Given the description of an element on the screen output the (x, y) to click on. 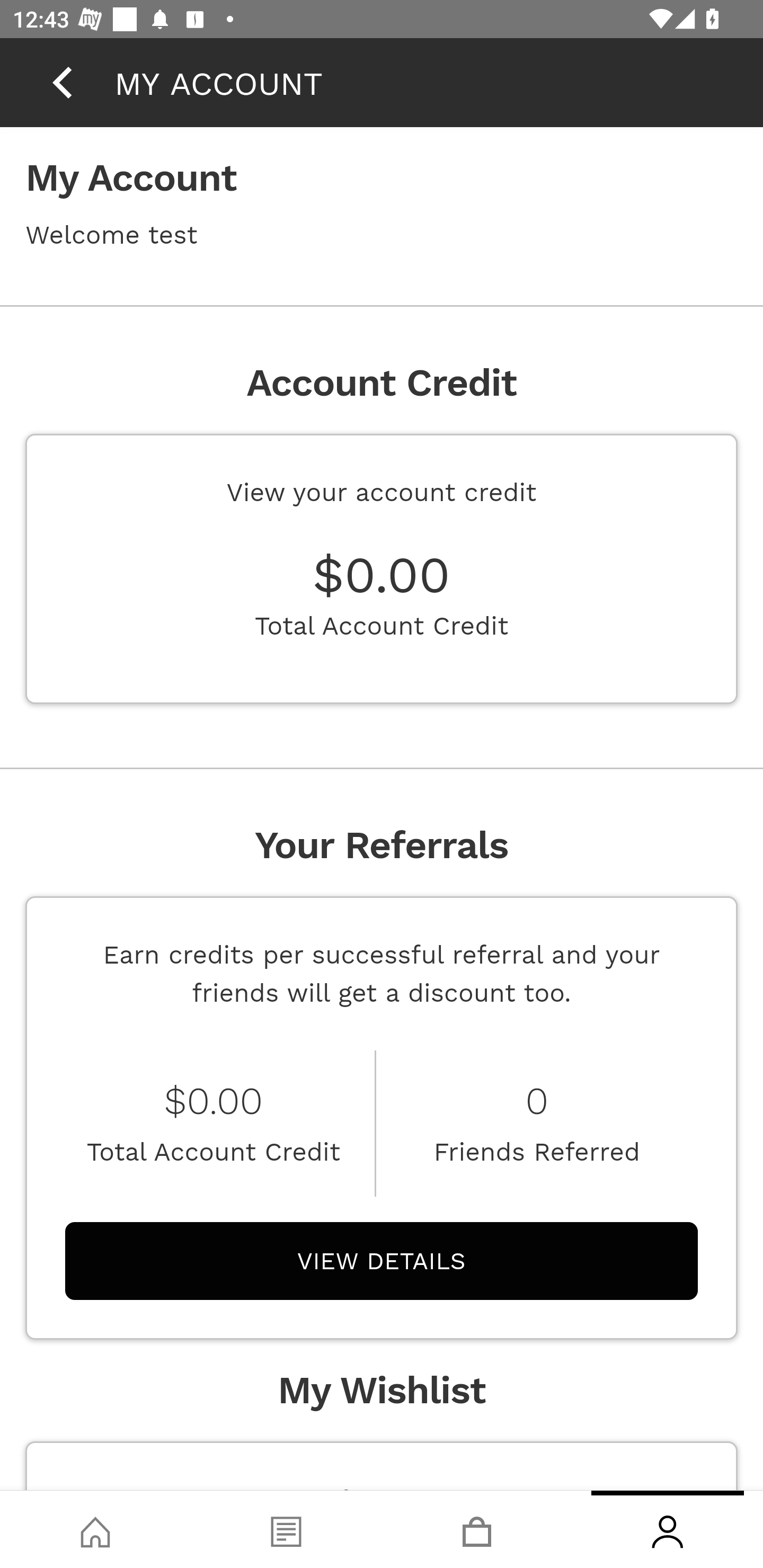
back (61, 82)
VIEW DETAILS (381, 1260)
Shop, tab, 1 of 4 (95, 1529)
Blog, tab, 2 of 4 (285, 1529)
Basket, tab, 3 of 4 (476, 1529)
Account, tab, 4 of 4 (667, 1529)
